Given the description of an element on the screen output the (x, y) to click on. 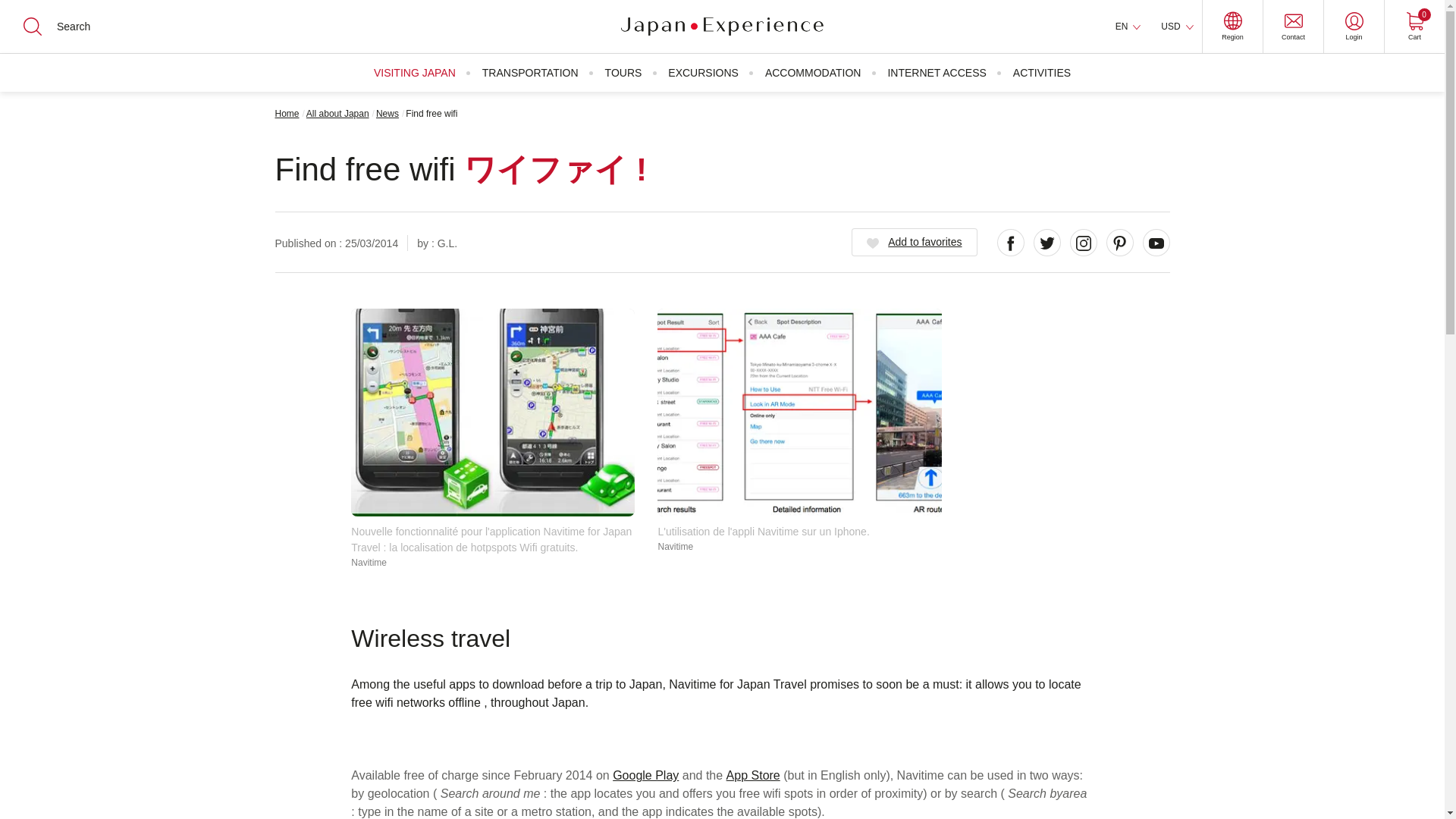
TRANSPORTATION (529, 72)
Login (1353, 26)
Search (23, 12)
VISITING JAPAN (414, 72)
L'utilisation de l'appli Navitime sur un Iphone. (799, 412)
EN (1128, 26)
Contact (1292, 26)
Skip to main content (7, 7)
USD (1414, 26)
